Given the description of an element on the screen output the (x, y) to click on. 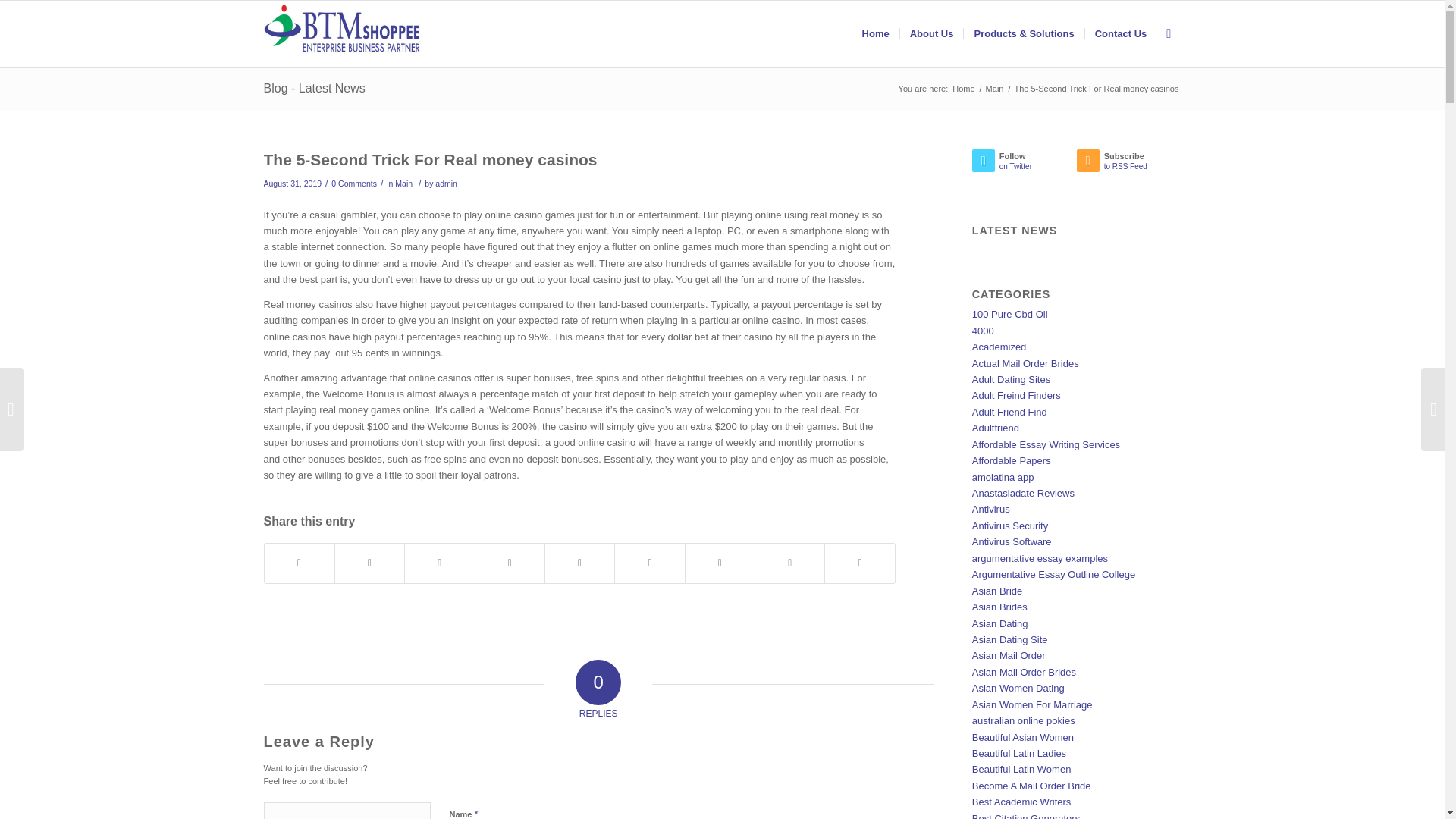
100 Pure Cbd Oil (1128, 164)
Home (1010, 314)
Main (963, 89)
About Us (995, 89)
Affordable Papers (931, 33)
The 5-Second Trick For Real money casinos (1011, 460)
Actual Mail Order Brides (429, 159)
Adult Dating Sites (1025, 363)
btmshoppee (1010, 378)
Contact Us (963, 89)
0 Comments (1120, 33)
Adultfriend (354, 183)
admin (995, 428)
Main (446, 183)
